Given the description of an element on the screen output the (x, y) to click on. 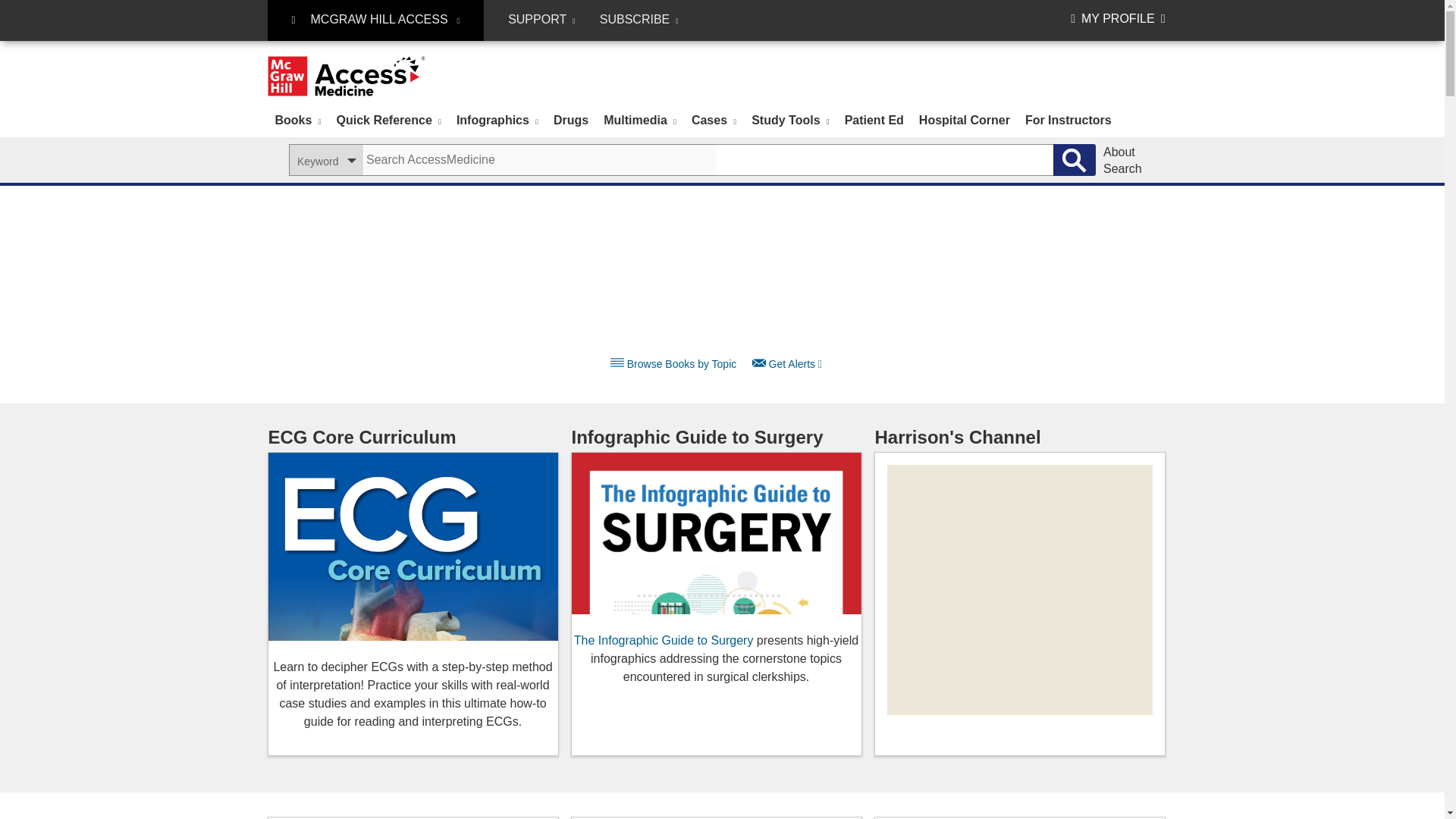
MCGRAW HILL ACCESS (374, 20)
MY PROFILE (1117, 18)
Search (1074, 160)
SUPPORT (541, 19)
Search (1074, 160)
Opens a dialog (791, 363)
SUBSCRIBE (638, 19)
